Given the description of an element on the screen output the (x, y) to click on. 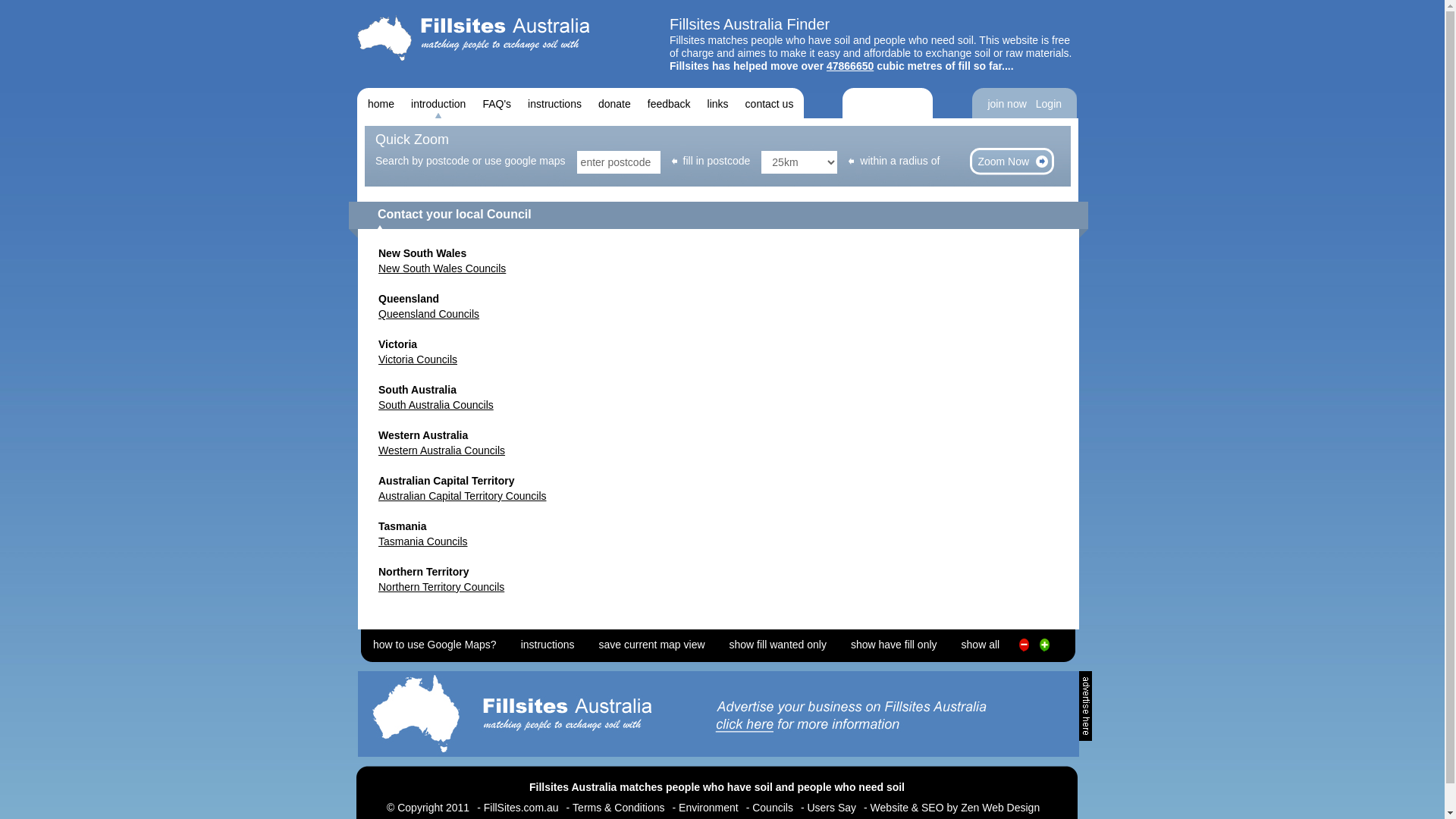
Terms & Conditions Element type: text (618, 807)
donate Element type: text (614, 102)
Australian Capital Territory Councils Element type: text (462, 495)
join now Element type: text (1006, 102)
how to use Google Maps? Element type: text (434, 640)
instructions Element type: text (554, 102)
introduction Element type: text (438, 102)
Environment Element type: text (708, 807)
Login Element type: text (1048, 102)
Northern Territory Councils Element type: text (441, 586)
instructions Element type: text (547, 640)
Councils Element type: text (772, 807)
Fillsites Australia Element type: hover (473, 37)
FillSites.com.au Element type: text (520, 807)
show have fill only Element type: text (893, 640)
have fill Element type: hover (1044, 650)
home Element type: text (380, 102)
show all Element type: text (980, 640)
Victoria Councils Element type: text (417, 359)
South Australia Councils Element type: text (435, 404)
save current map view Element type: text (651, 640)
New South Wales Councils Element type: text (441, 268)
Zen Web Design Element type: text (999, 807)
show fill wanted only Element type: text (777, 640)
contact us Element type: text (769, 102)
Zoom Now Element type: text (1011, 161)
Western Australia Councils Element type: text (441, 450)
fill wanted Element type: hover (1024, 650)
Users Say Element type: text (831, 807)
FAQ's Element type: text (496, 102)
Tasmania Councils Element type: text (422, 541)
Queensland Councils Element type: text (428, 313)
links Element type: text (717, 102)
feedback Element type: text (668, 102)
